Given the description of an element on the screen output the (x, y) to click on. 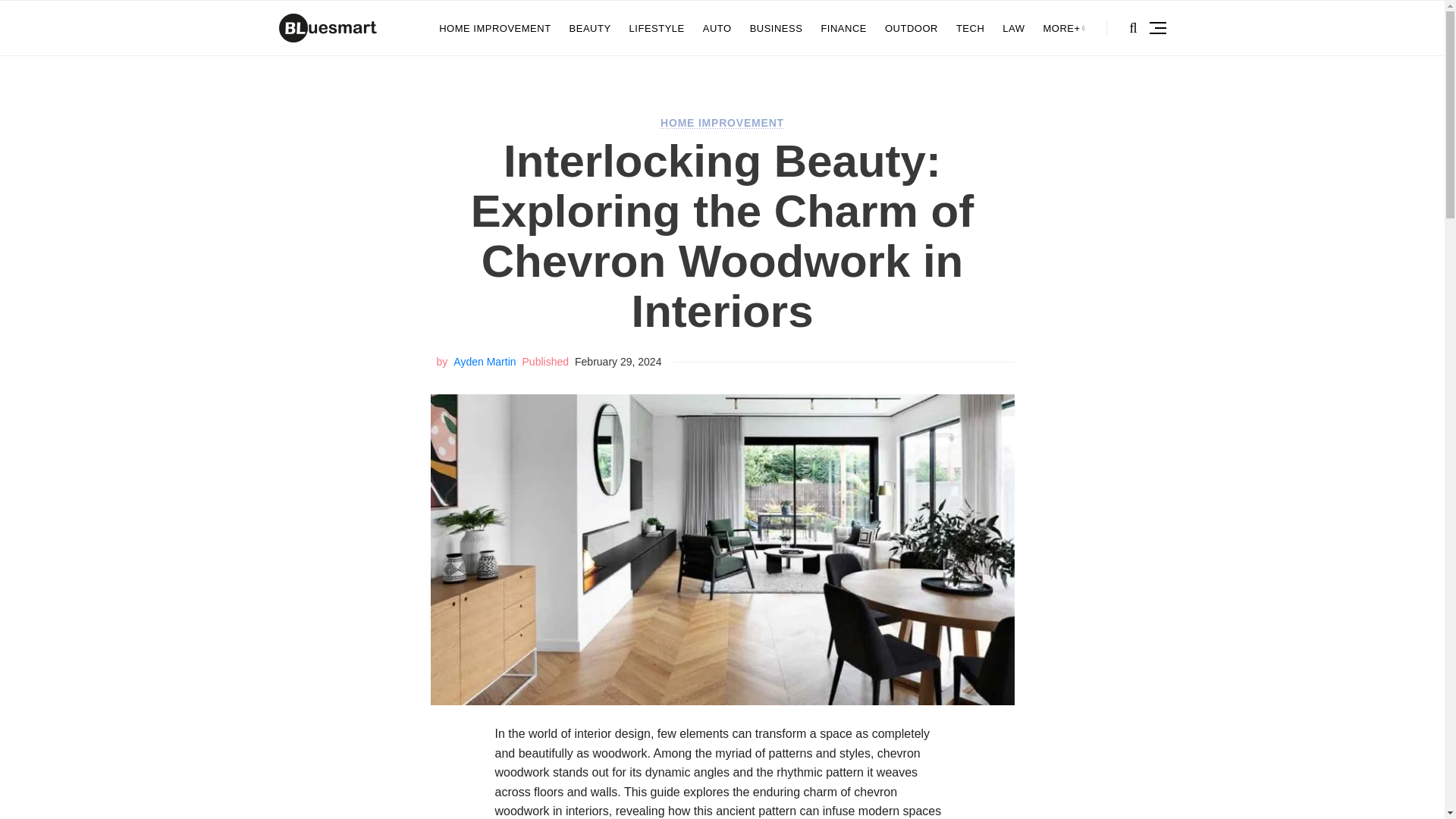
LIFESTYLE (657, 27)
HOME IMPROVEMENT (494, 27)
Ayden Martin (483, 361)
BUSINESS (776, 27)
HOME IMPROVEMENT (722, 122)
Posts by Ayden Martin (483, 361)
BEAUTY (590, 27)
FINANCE (843, 27)
OUTDOOR (911, 27)
